Given the description of an element on the screen output the (x, y) to click on. 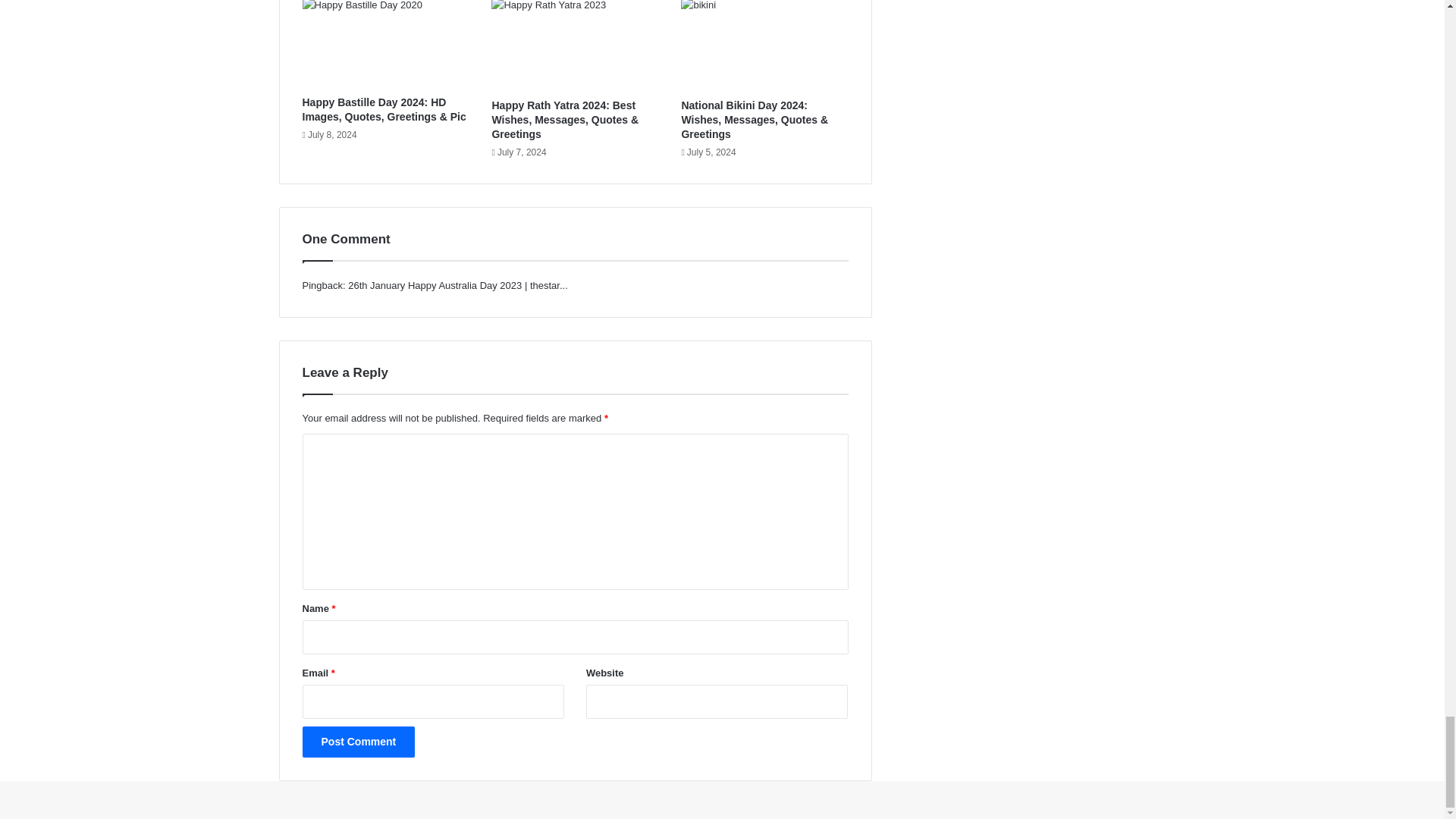
Post Comment (357, 741)
